Given the description of an element on the screen output the (x, y) to click on. 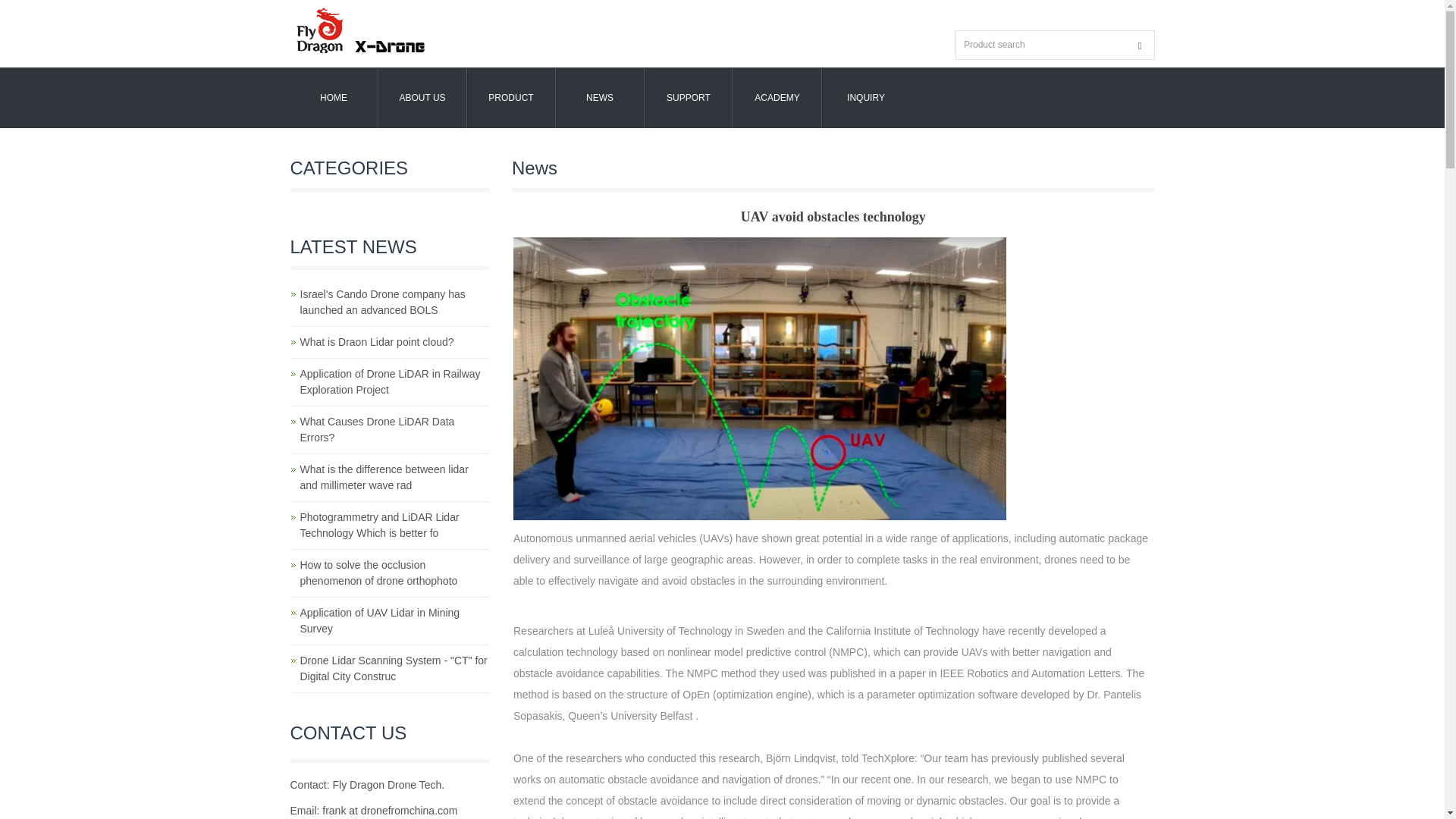
NEWS (599, 97)
Drone Lidar Scanning System -  (393, 668)
INQUIRY (865, 97)
What Causes Drone LiDAR Data Errors? (376, 429)
What is Draon Lidar point cloud? (376, 341)
ABOUT US (421, 97)
Product search (1139, 45)
ACADEMY (777, 97)
